Given the description of an element on the screen output the (x, y) to click on. 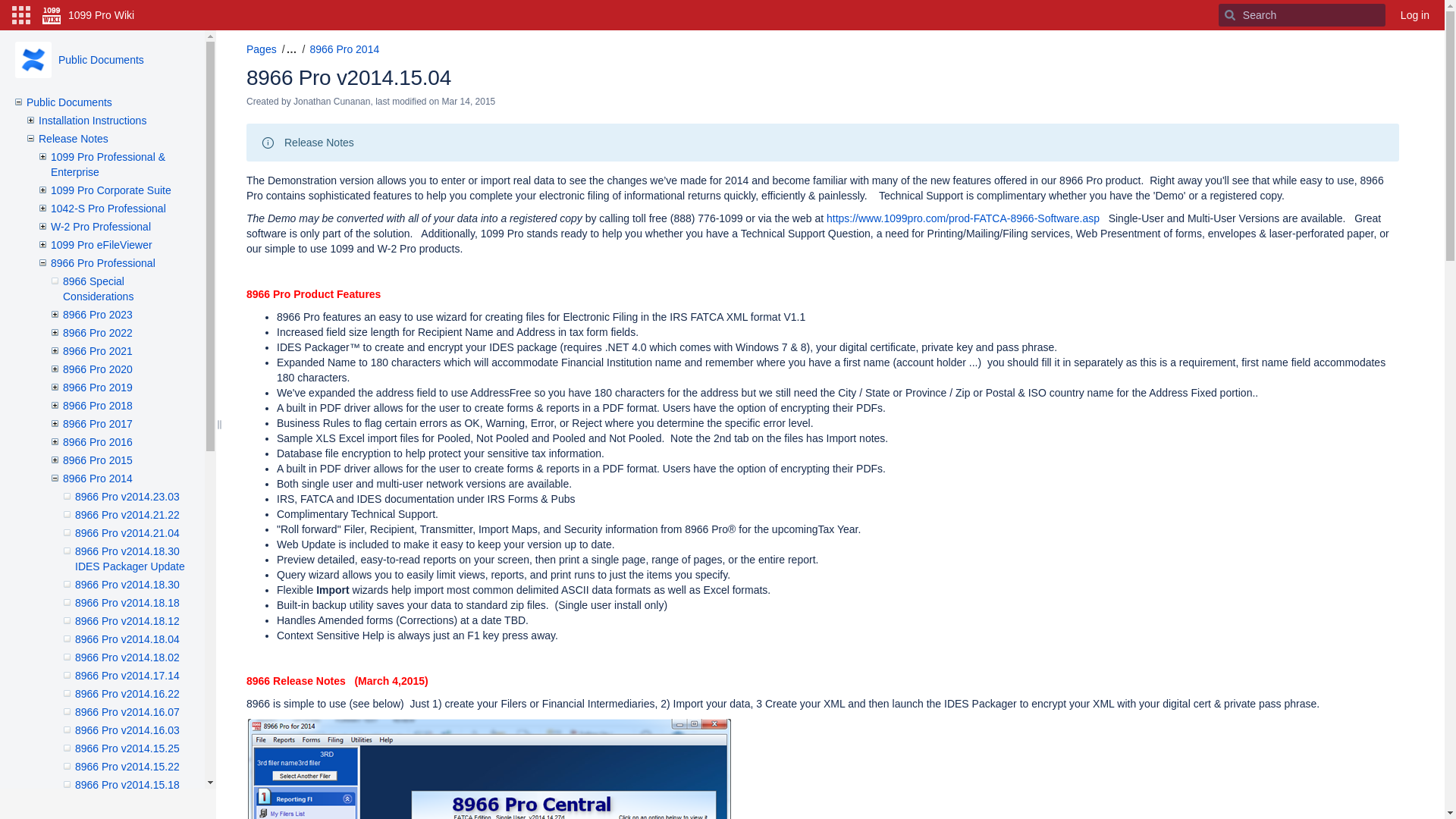
8966 Pro 2018 Element type: text (97, 405)
8966 Pro Professional Element type: text (102, 263)
Release Notes Element type: text (73, 138)
8966 Pro v2014.15.13 Element type: text (127, 803)
8966 Pro 2014 Element type: text (97, 478)
8966 Pro 2021 Element type: text (97, 351)
8966 Pro 2022 Element type: text (97, 332)
8966 Special Considerations Element type: text (97, 288)
Pages Element type: text (261, 49)
8966 Pro v2014.18.30 IDES Packager Update Element type: text (130, 558)
8966 Pro 2019 Element type: text (97, 387)
8966 Pro v2014.18.30 Element type: text (127, 584)
8966 Pro v2014.23.03 Element type: text (127, 496)
Installation Instructions Element type: text (92, 120)
8966 Pro v2014.16.07 Element type: text (127, 712)
8966 Pro 2023 Element type: text (97, 314)
8966 Pro v2014.16.22 Element type: text (127, 693)
8966 Pro v2014.15.22 Element type: text (127, 766)
Mar 14, 2015 Element type: text (468, 101)
Jonathan Cunanan Element type: text (331, 101)
W-2 Pro Professional Element type: text (100, 226)
Linked Applications Element type: text (20, 15)
8966 Pro v2014.15.04 Element type: text (348, 77)
8966 Pro v2014.15.18 Element type: text (127, 784)
Public Documents Element type: text (69, 102)
8966 Pro v2014.21.22 Element type: text (127, 514)
https://www.1099pro.com/prod-FATCA-8966-Software.asp Element type: text (962, 218)
8966 Pro v2014.21.04 Element type: text (127, 533)
 (Type 'g' then 'g'OR '/') Element type: hover (1301, 14)
8966 Pro v2014.18.04 Element type: text (127, 639)
1099 Pro Wiki Element type: text (87, 15)
Public Documents Element type: text (101, 59)
1099 Pro Corporate Suite Element type: text (110, 190)
8966 Pro v2014.15.25 Element type: text (127, 748)
1042-S Pro Professional Element type: text (108, 208)
8966 Pro v2014.17.14 Element type: text (127, 675)
8966 Pro 2020 Element type: text (97, 369)
8966 Pro v2014.18.02 Element type: text (127, 657)
8966 Pro 2015 Element type: text (97, 460)
8966 Pro v2014.18.12 Element type: text (127, 621)
8966 Pro v2014.18.18 Element type: text (127, 602)
1099 Pro Professional & Enterprise Element type: text (107, 164)
Log in Element type: text (1415, 15)
1099 Pro eFileViewer Element type: text (101, 244)
8966 Pro v2014.16.03 Element type: text (127, 730)
8966 Pro 2017 Element type: text (97, 423)
8966 Pro 2014 Element type: text (344, 49)
Public Documents Element type: hover (33, 59)
8966 Pro 2016 Element type: text (97, 442)
